Given the description of an element on the screen output the (x, y) to click on. 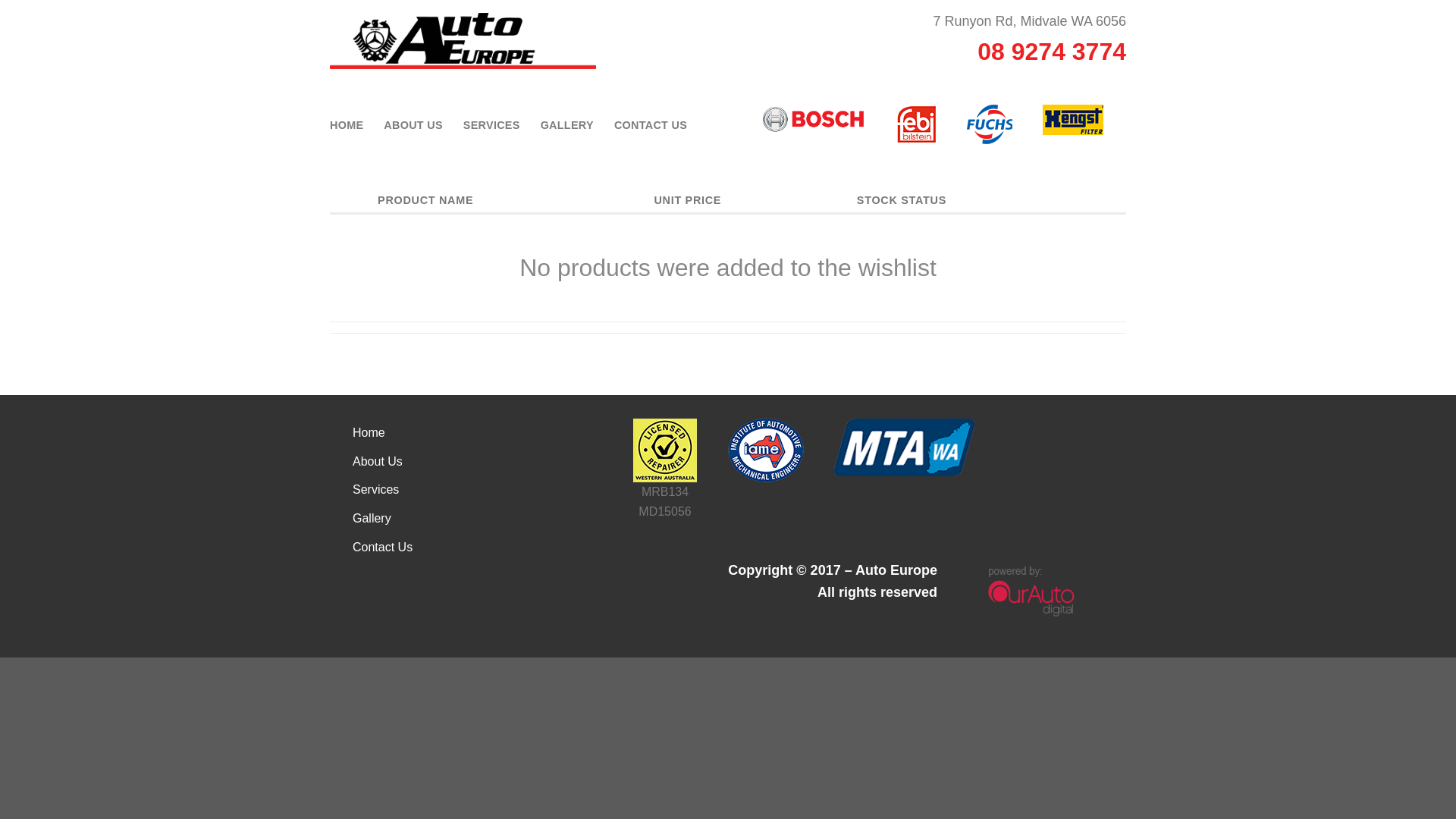
img Element type: hover (765, 450)
img Element type: hover (664, 450)
Services Element type: text (375, 489)
img Element type: hover (916, 124)
About Us Element type: text (377, 461)
img Element type: hover (813, 118)
img Element type: hover (989, 124)
GALLERY Element type: text (566, 124)
img Element type: hover (1072, 119)
img Element type: hover (904, 447)
Gallery Element type: text (371, 518)
HOME Element type: text (346, 124)
Home Element type: text (368, 432)
Skip to content Element type: text (0, 0)
Auto Europe - Automotive Services Element type: hover (462, 40)
img Element type: hover (1031, 587)
ABOUT US Element type: text (412, 124)
Contact Us Element type: text (382, 547)
CONTACT US Element type: text (650, 124)
SERVICES Element type: text (491, 124)
